Given the description of an element on the screen output the (x, y) to click on. 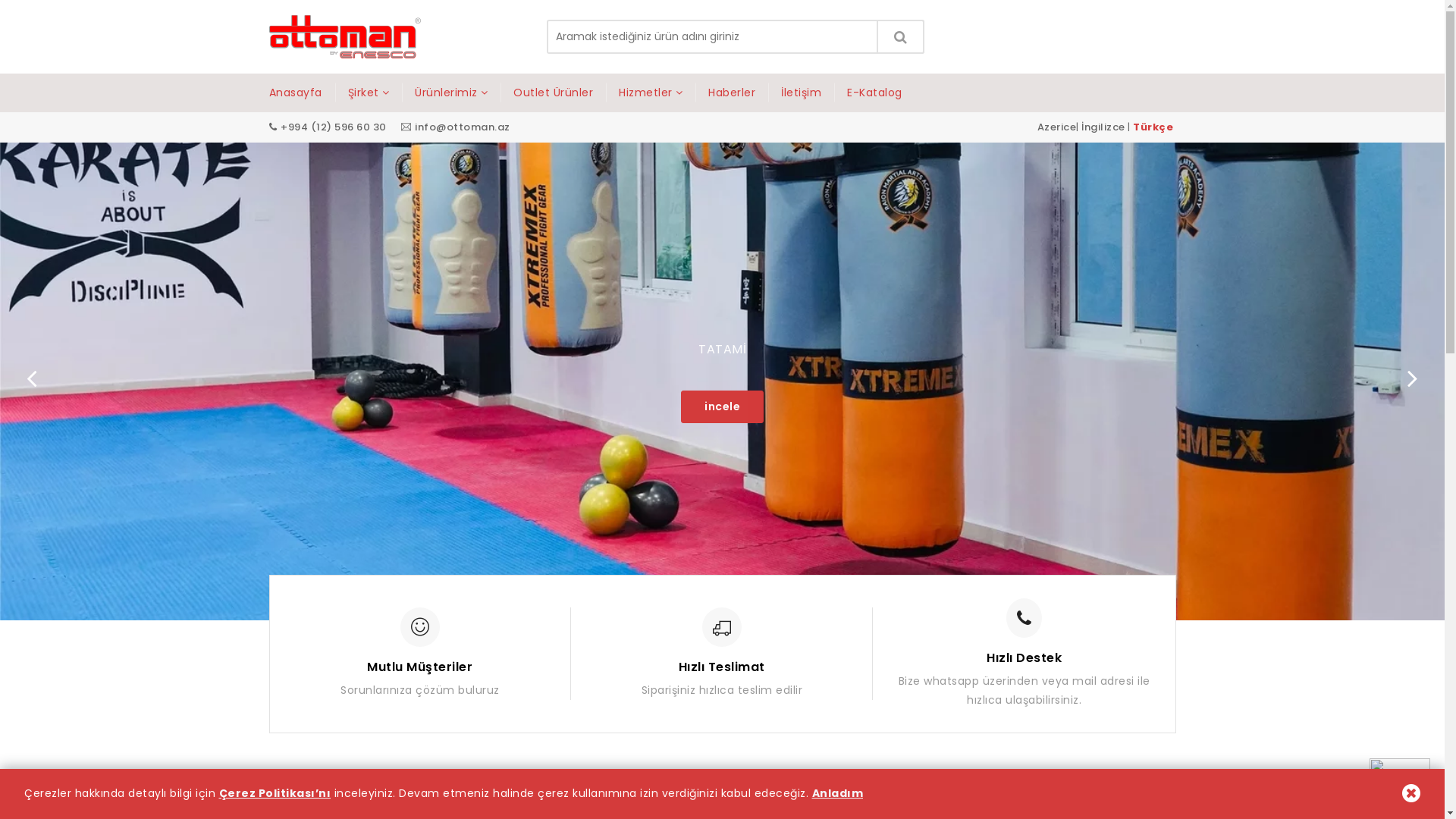
Anasayfa Element type: text (301, 92)
Hizmetler Element type: text (650, 92)
info@ottoman.az Element type: text (462, 127)
E-Katalog Element type: text (874, 92)
Azerice Element type: text (1056, 126)
Haberler Element type: text (731, 92)
incele Element type: text (721, 406)
+994 (12) 596 60 30 Element type: text (334, 127)
